Given the description of an element on the screen output the (x, y) to click on. 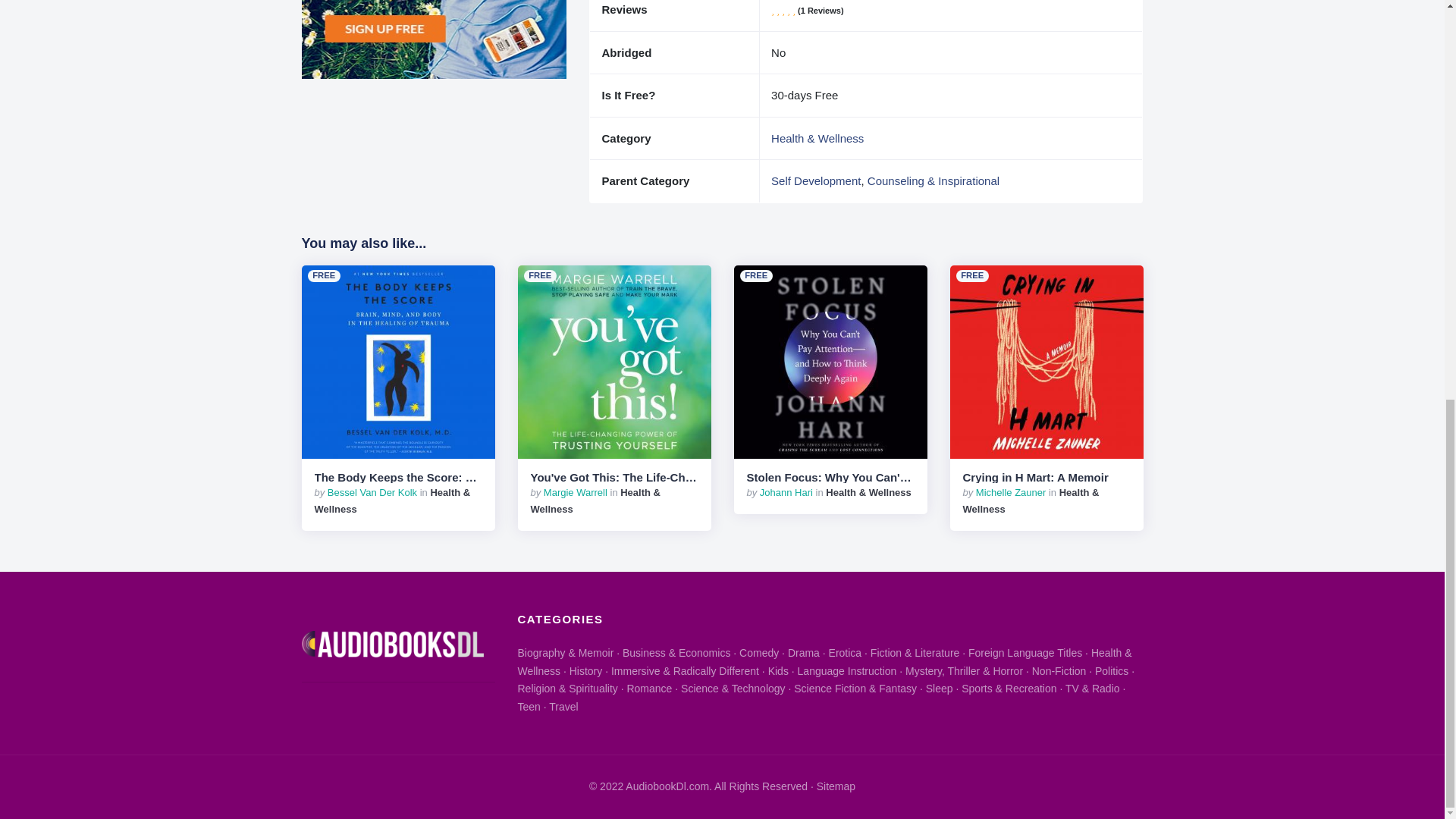
Self Development (815, 180)
Bessel Van Der Kolk (371, 491)
